Given the description of an element on the screen output the (x, y) to click on. 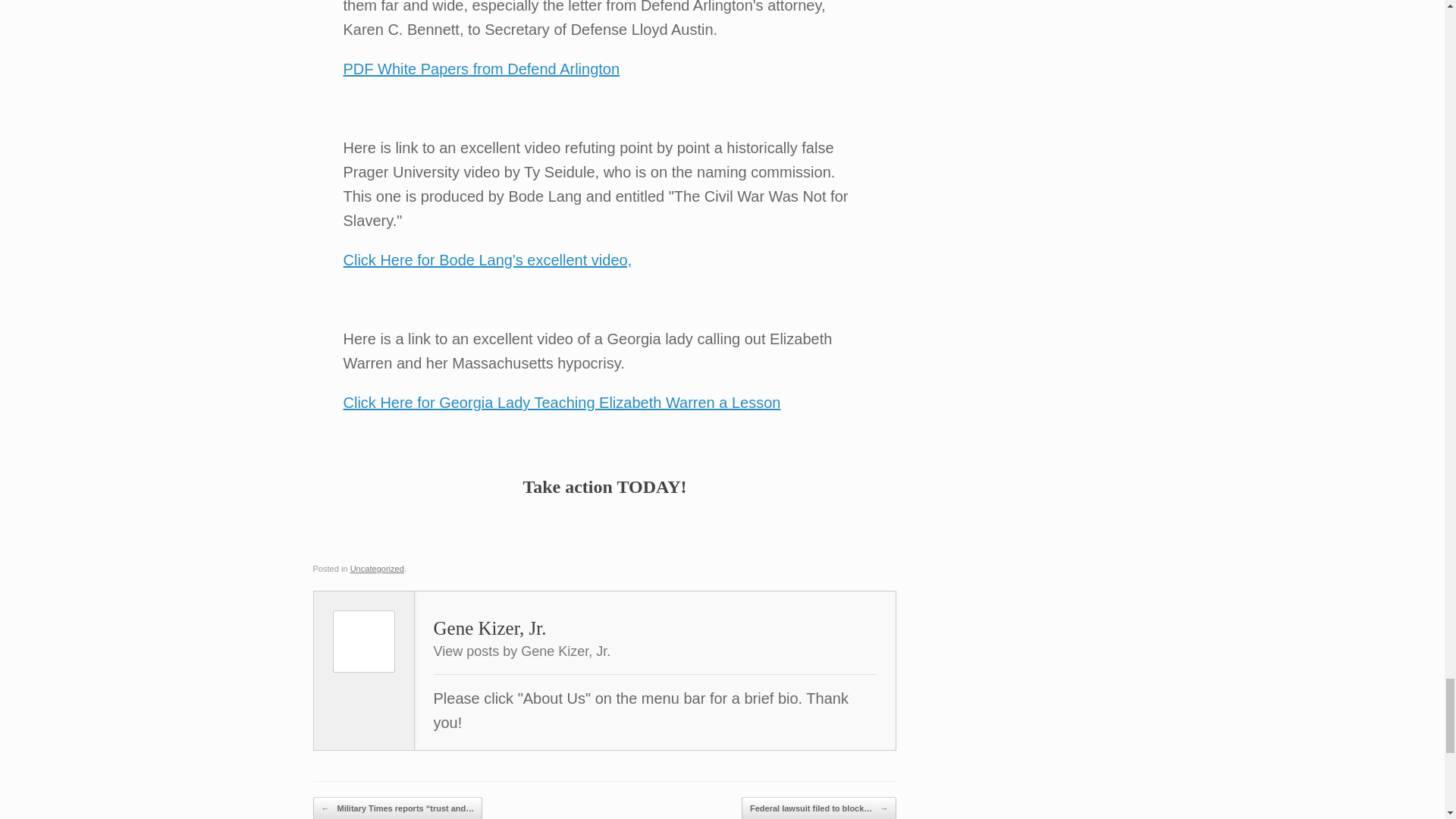
Uncategorized (377, 568)
View posts by Gene Kizer, Jr. (522, 651)
PDF White Papers from Defend Arlington (481, 68)
Click Here for Bode Lang's excellent video, (486, 259)
